Given the description of an element on the screen output the (x, y) to click on. 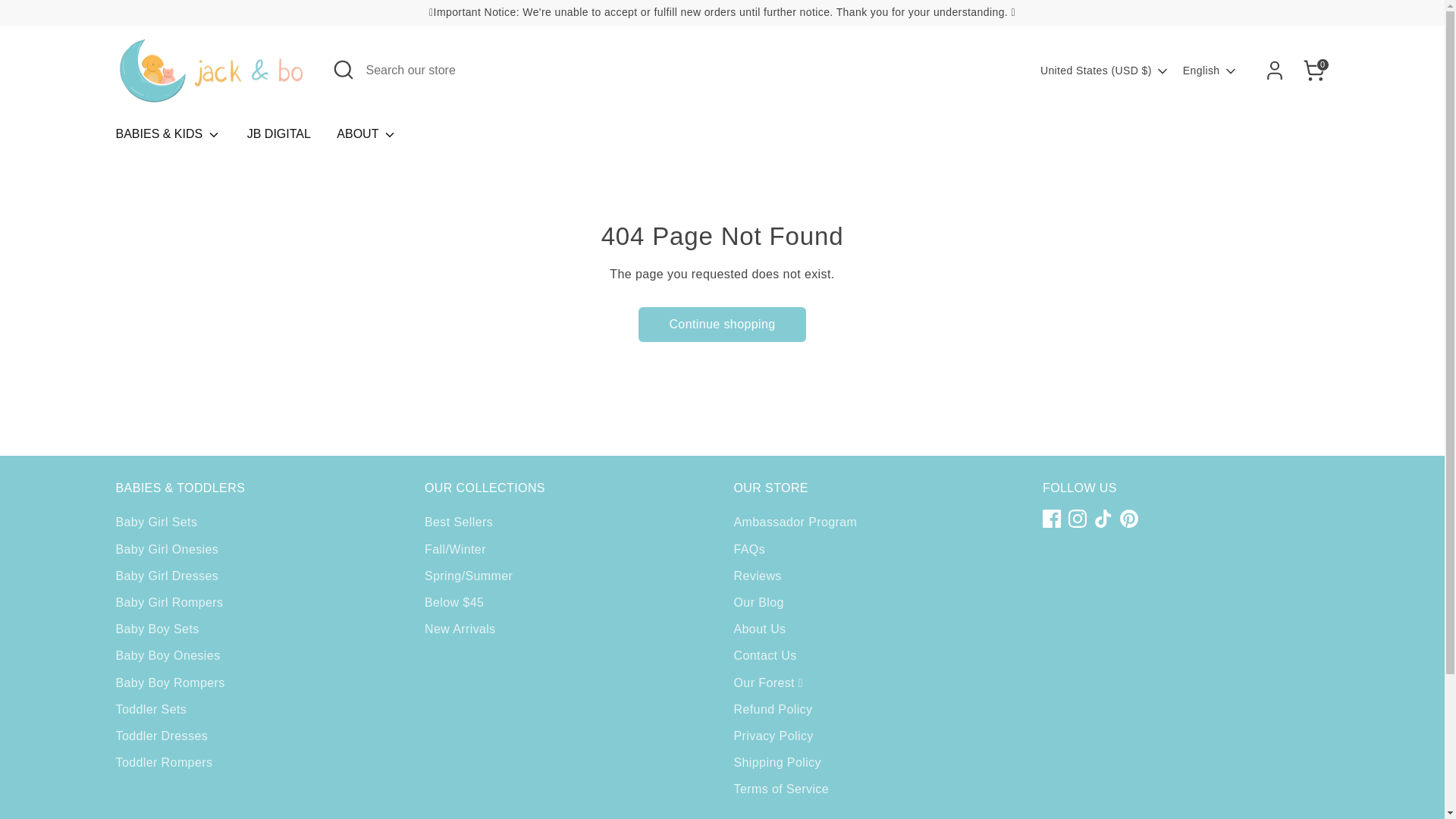
0 (1312, 70)
English (1210, 70)
